Given the description of an element on the screen output the (x, y) to click on. 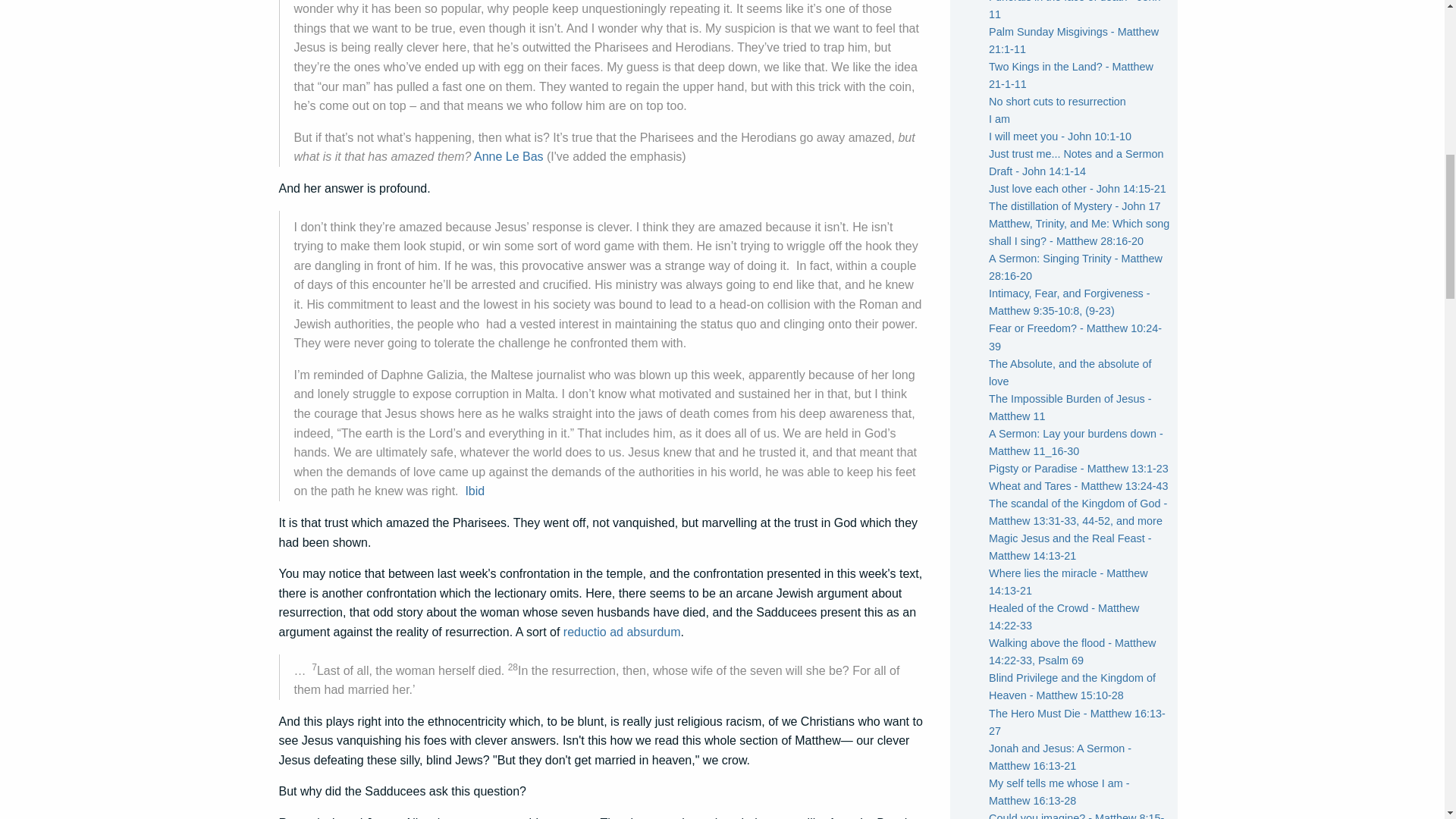
Ibid (474, 490)
Anne Le Bas (508, 155)
reductio ad absurdum (622, 631)
